Given the description of an element on the screen output the (x, y) to click on. 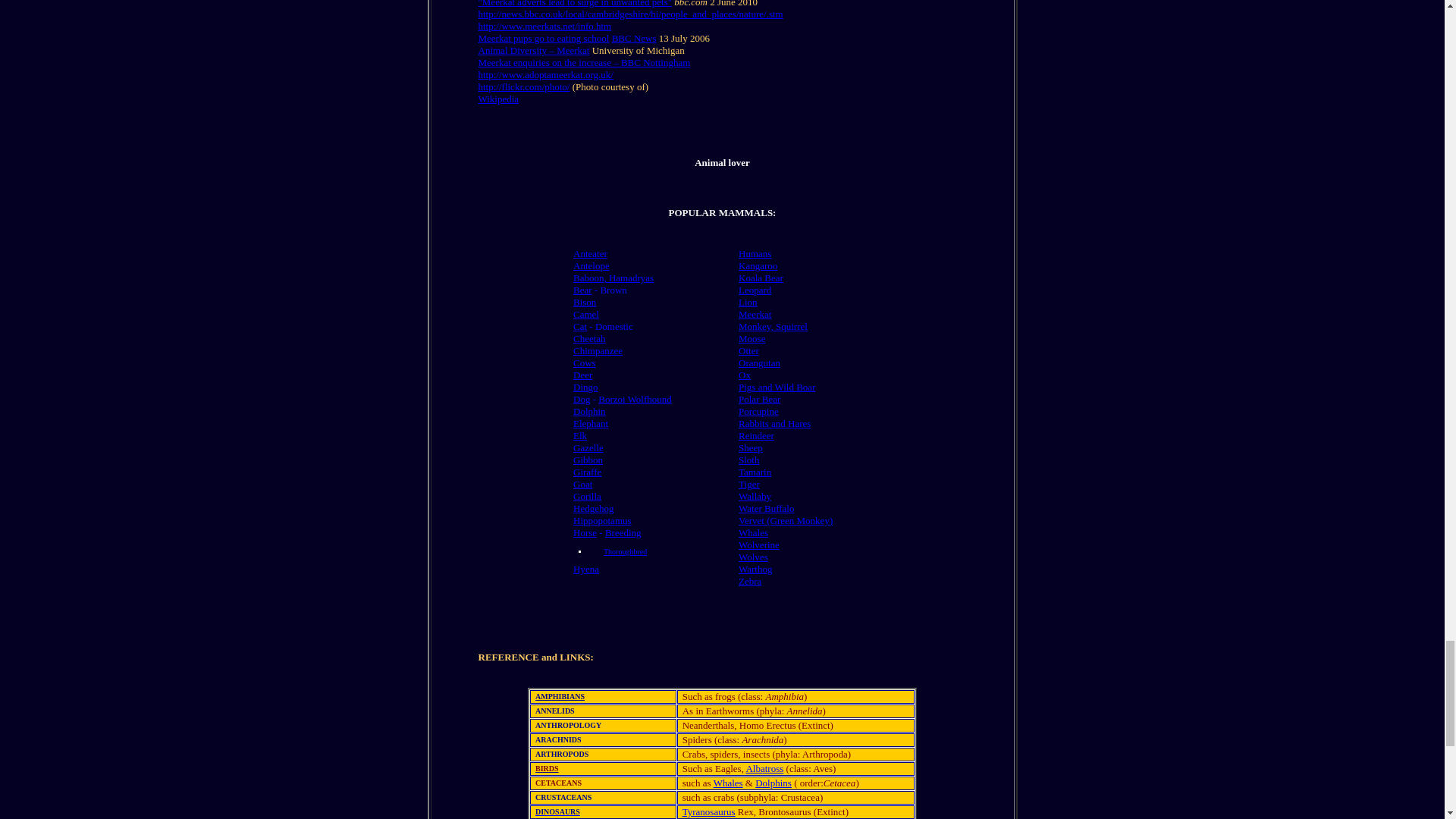
BBC News (633, 38)
